Given the description of an element on the screen output the (x, y) to click on. 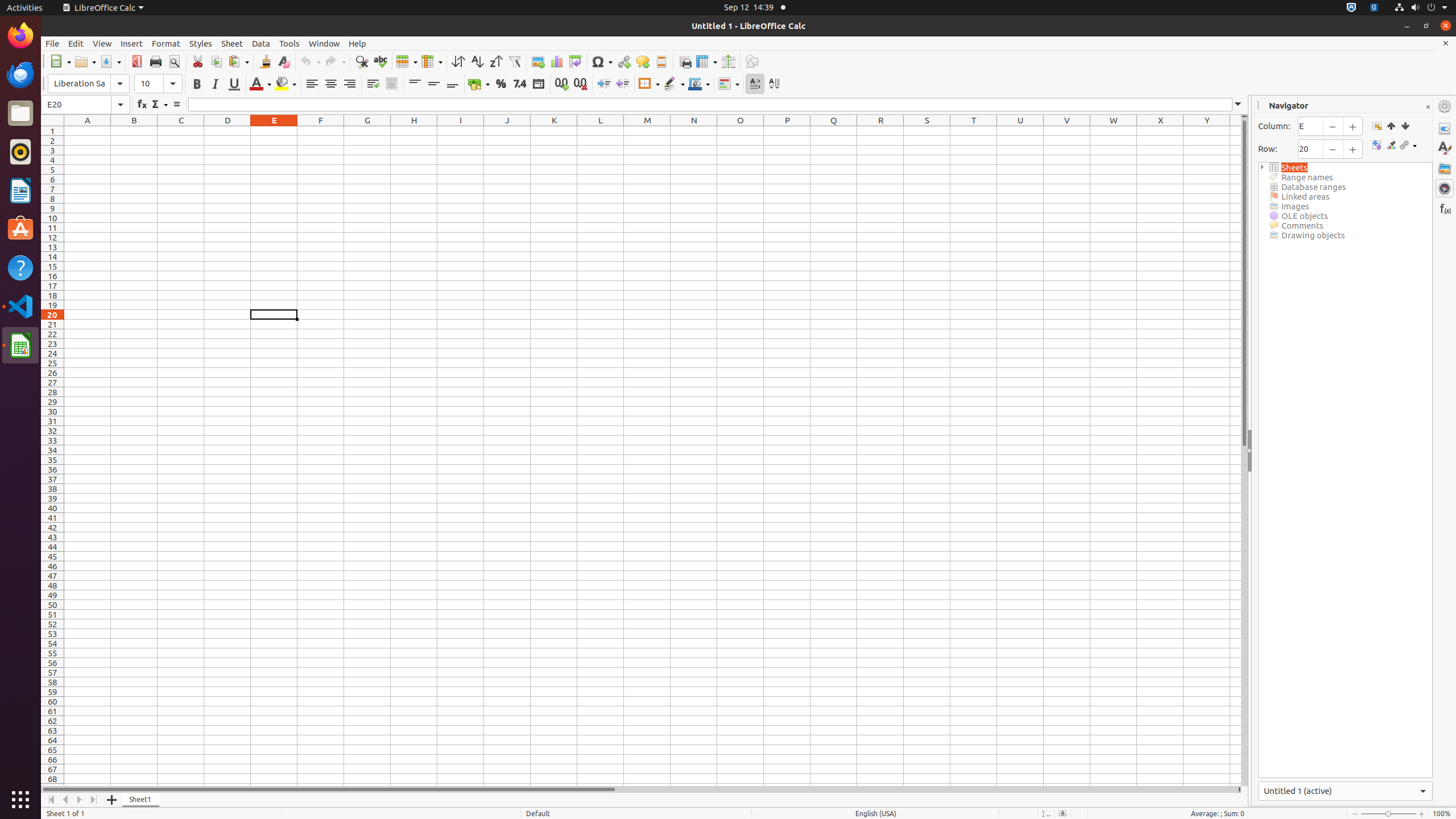
Gallery Element type: radio-button (1444, 168)
Sheet Element type: menu (231, 43)
Background Color Element type: push-button (285, 83)
Split Window Element type: push-button (727, 61)
Sort Descending Element type: push-button (495, 61)
